Given the description of an element on the screen output the (x, y) to click on. 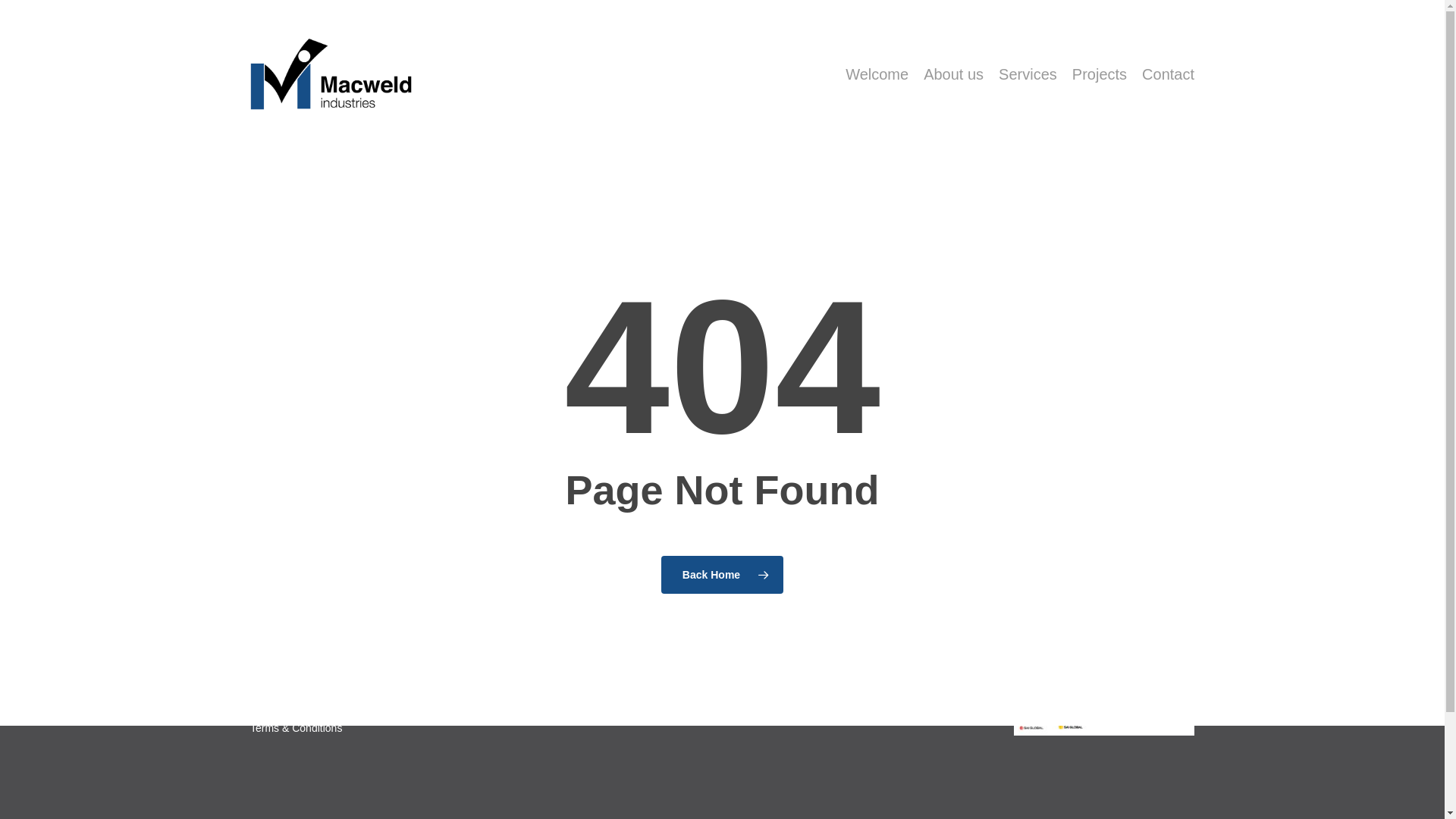
Welcome Element type: text (876, 73)
Terms & Conditions Element type: text (296, 727)
Privacy Policy Element type: text (283, 705)
Back Home Element type: text (722, 574)
About us Element type: text (953, 73)
Projects Element type: text (1099, 73)
Contact Element type: text (1168, 73)
Services Element type: text (1027, 73)
